Given the description of an element on the screen output the (x, y) to click on. 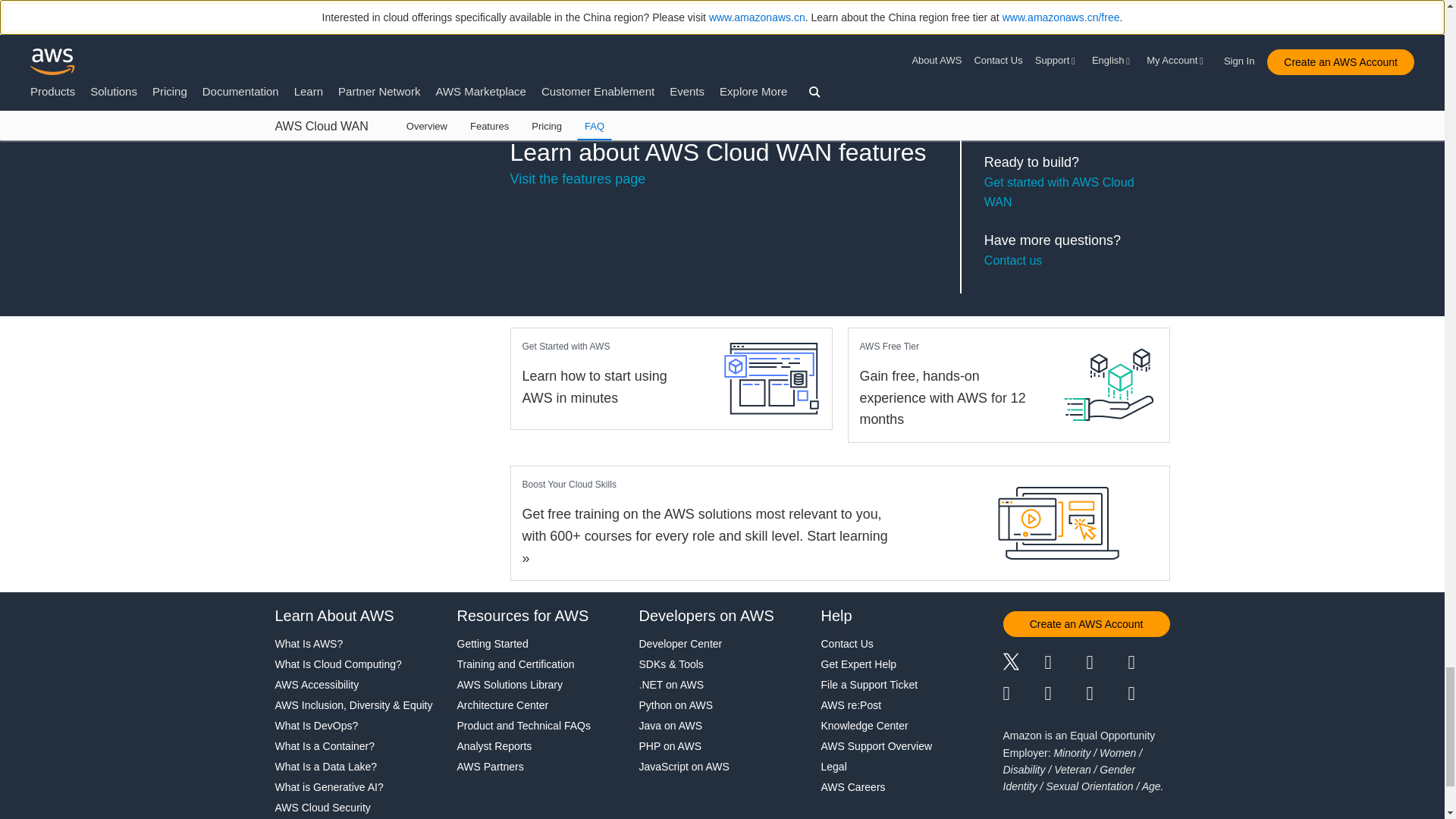
Twitter (1023, 663)
Linkedin (1106, 663)
Facebook (1065, 663)
